Given the description of an element on the screen output the (x, y) to click on. 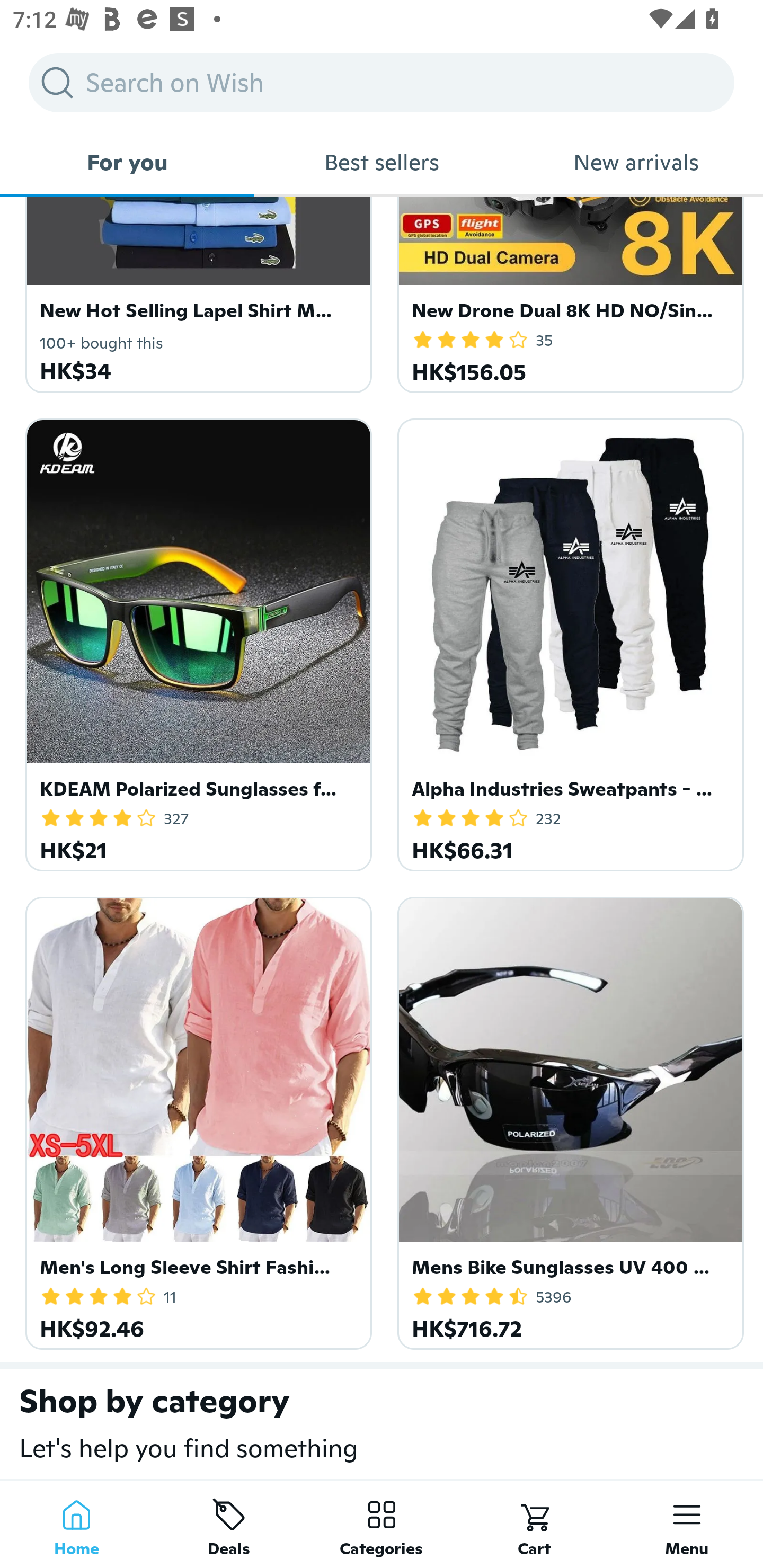
Search on Wish (381, 82)
For you (127, 161)
Best sellers (381, 161)
New arrivals (635, 161)
Home (76, 1523)
Deals (228, 1523)
Categories (381, 1523)
Cart (533, 1523)
Menu (686, 1523)
